Given the description of an element on the screen output the (x, y) to click on. 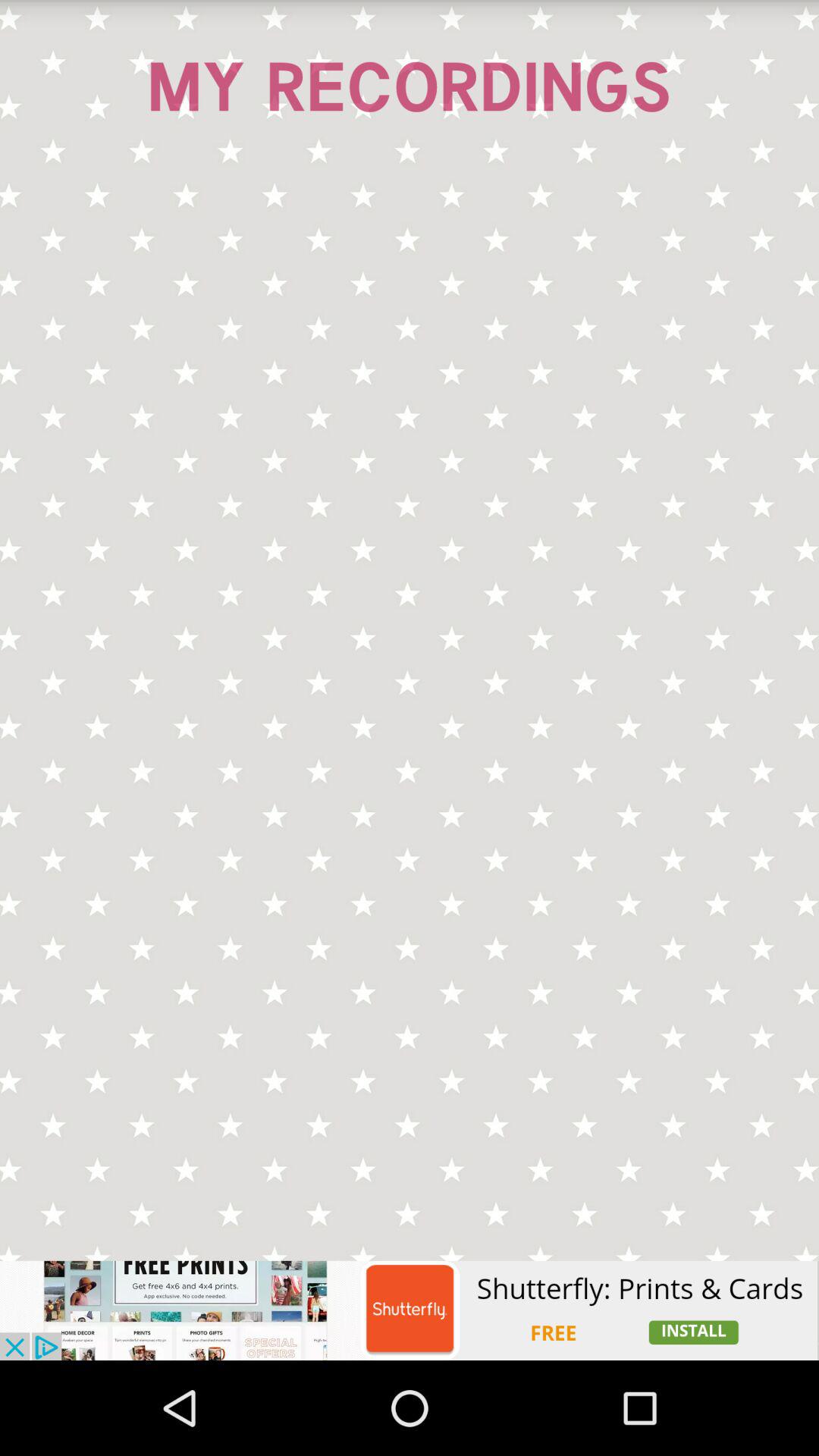
go to shutterfly app (409, 1310)
